Given the description of an element on the screen output the (x, y) to click on. 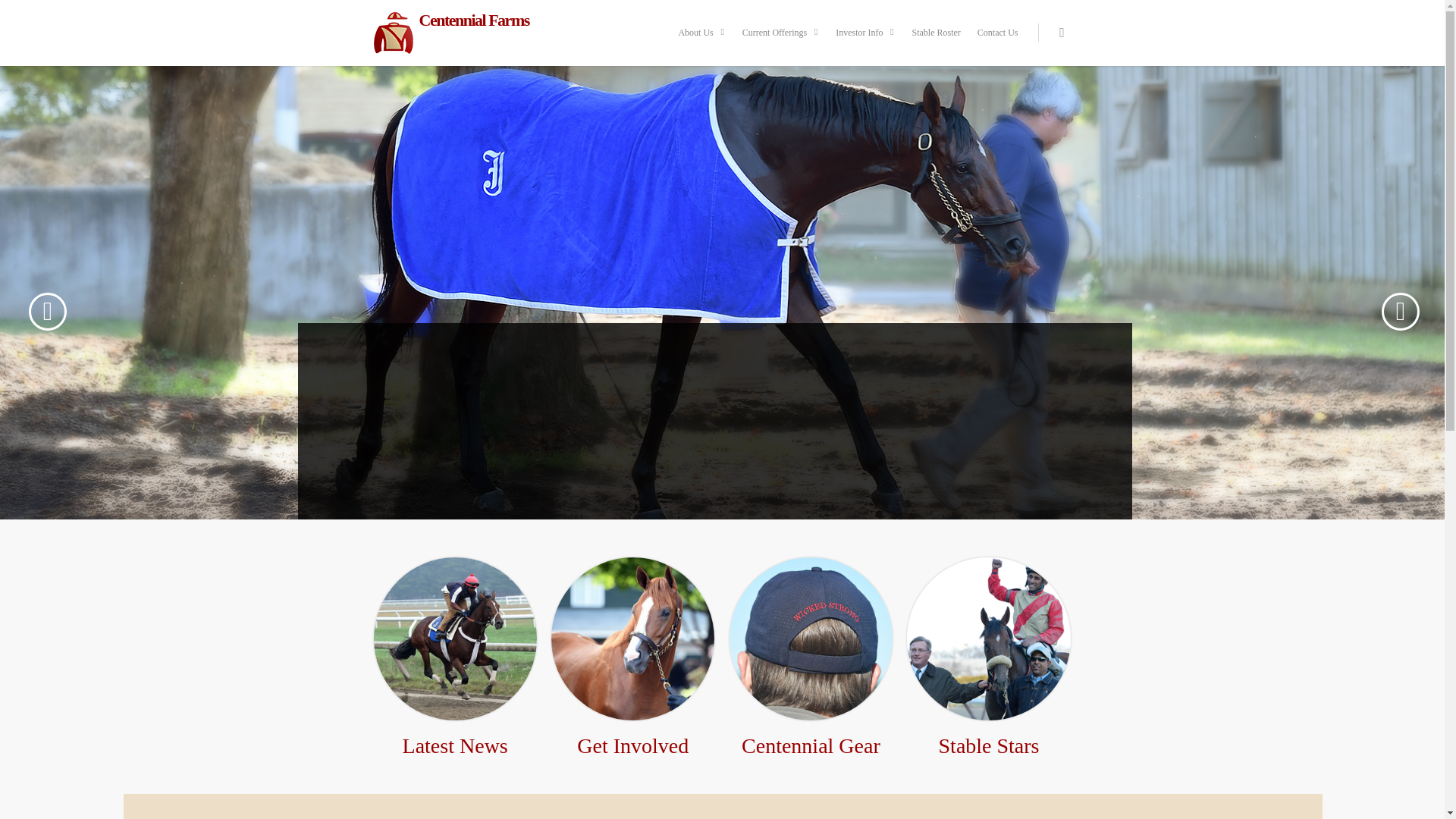
Stable Stars (989, 745)
Current Offerings (781, 43)
Contact Us (997, 43)
About Us (700, 43)
Centennial Gear (810, 745)
Stable Roster (936, 43)
Latest News (455, 745)
Centennial Farms (450, 33)
Get Involved (632, 745)
Investor Info (865, 43)
